Given the description of an element on the screen output the (x, y) to click on. 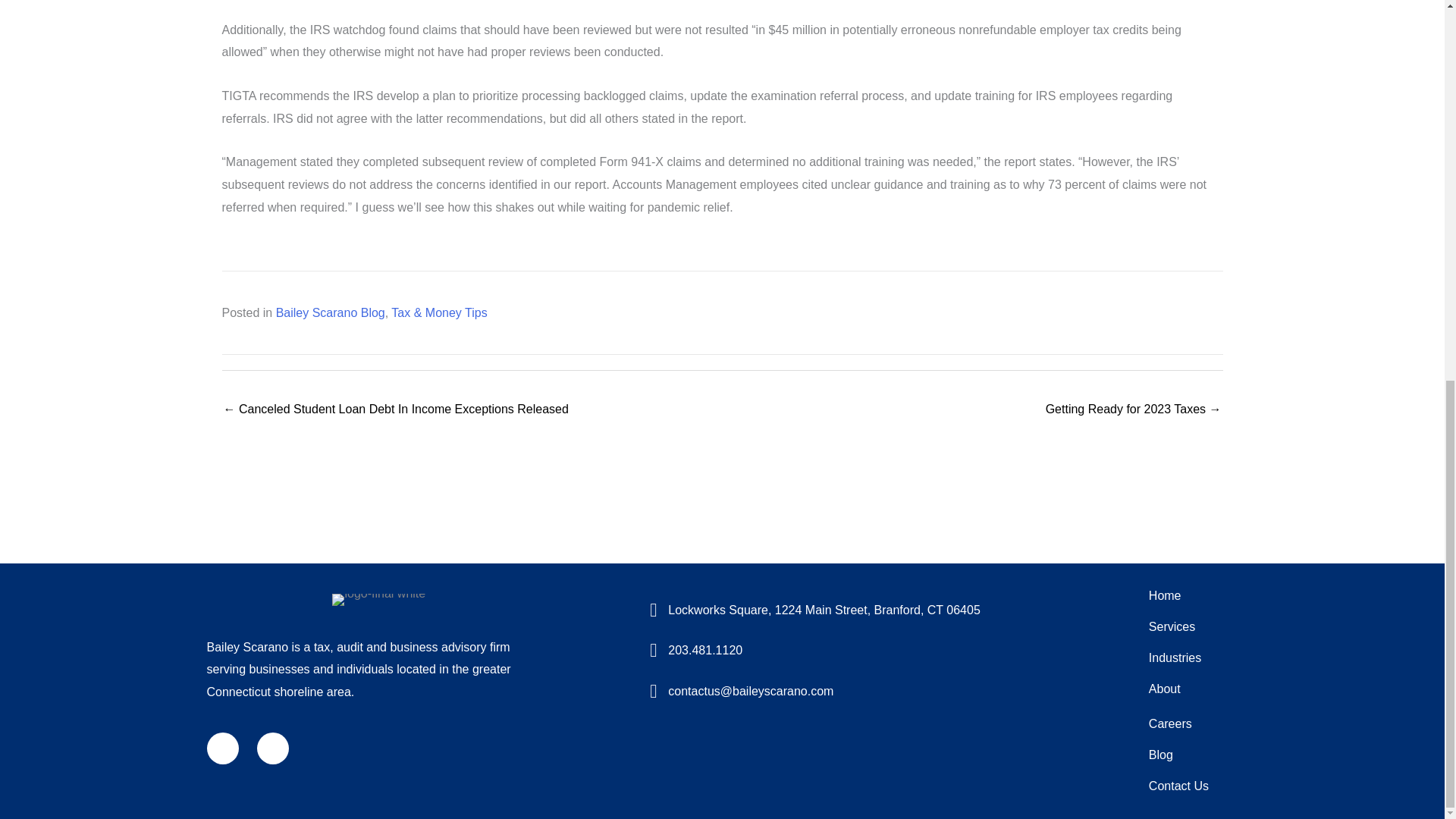
Home (1187, 595)
203.481.1120 (705, 649)
logo-final white (378, 599)
Industries (1187, 657)
Bailey Scarano Blog (330, 312)
Services (1187, 626)
About (1187, 688)
